Given the description of an element on the screen output the (x, y) to click on. 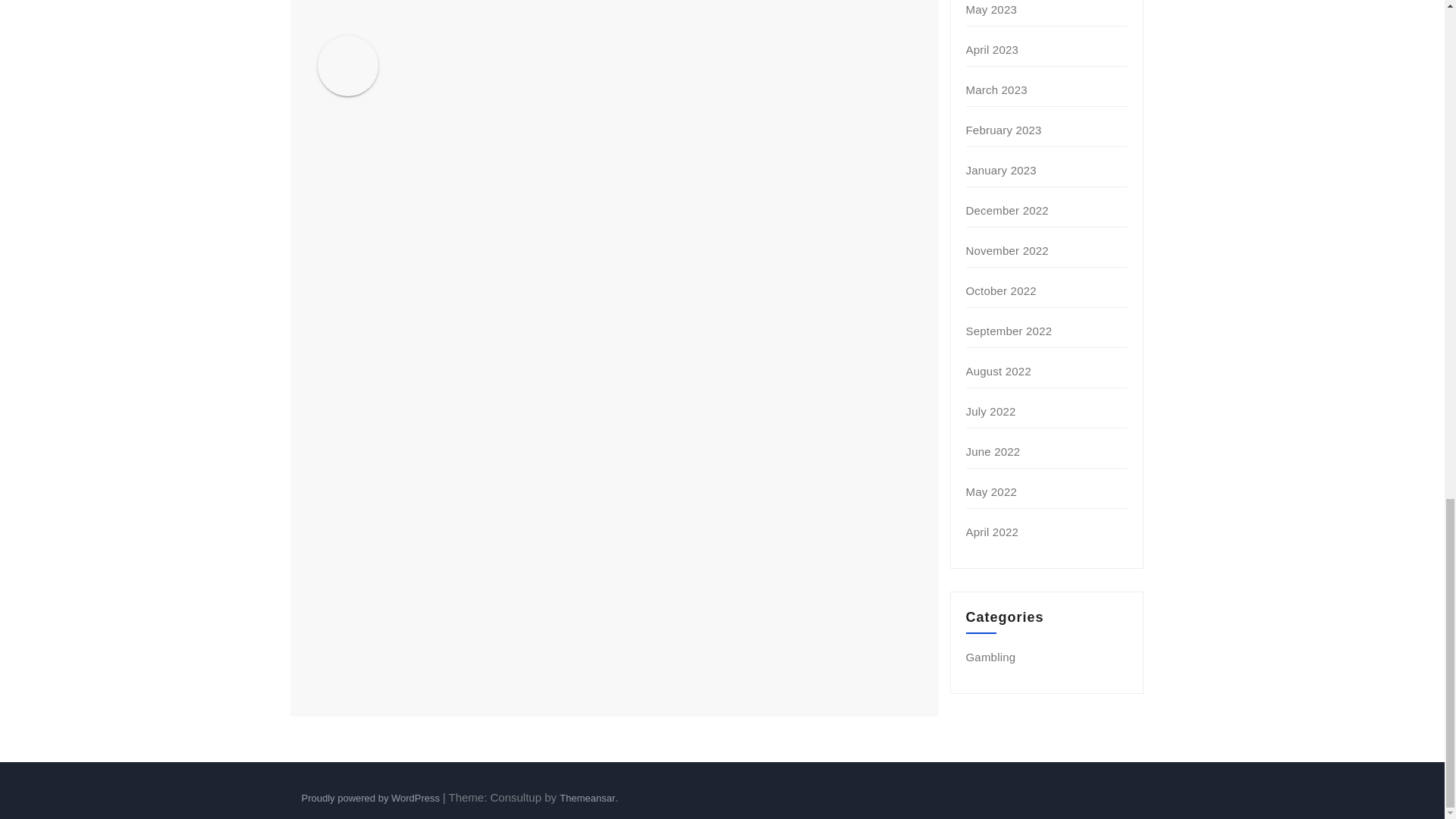
November 2022 (1007, 250)
September 2022 (1009, 330)
February 2023 (1004, 129)
May 2023 (991, 9)
April 2022 (992, 531)
Gambling (991, 656)
March 2023 (996, 89)
June 2022 (993, 451)
October 2022 (1001, 290)
July 2022 (991, 410)
